Given the description of an element on the screen output the (x, y) to click on. 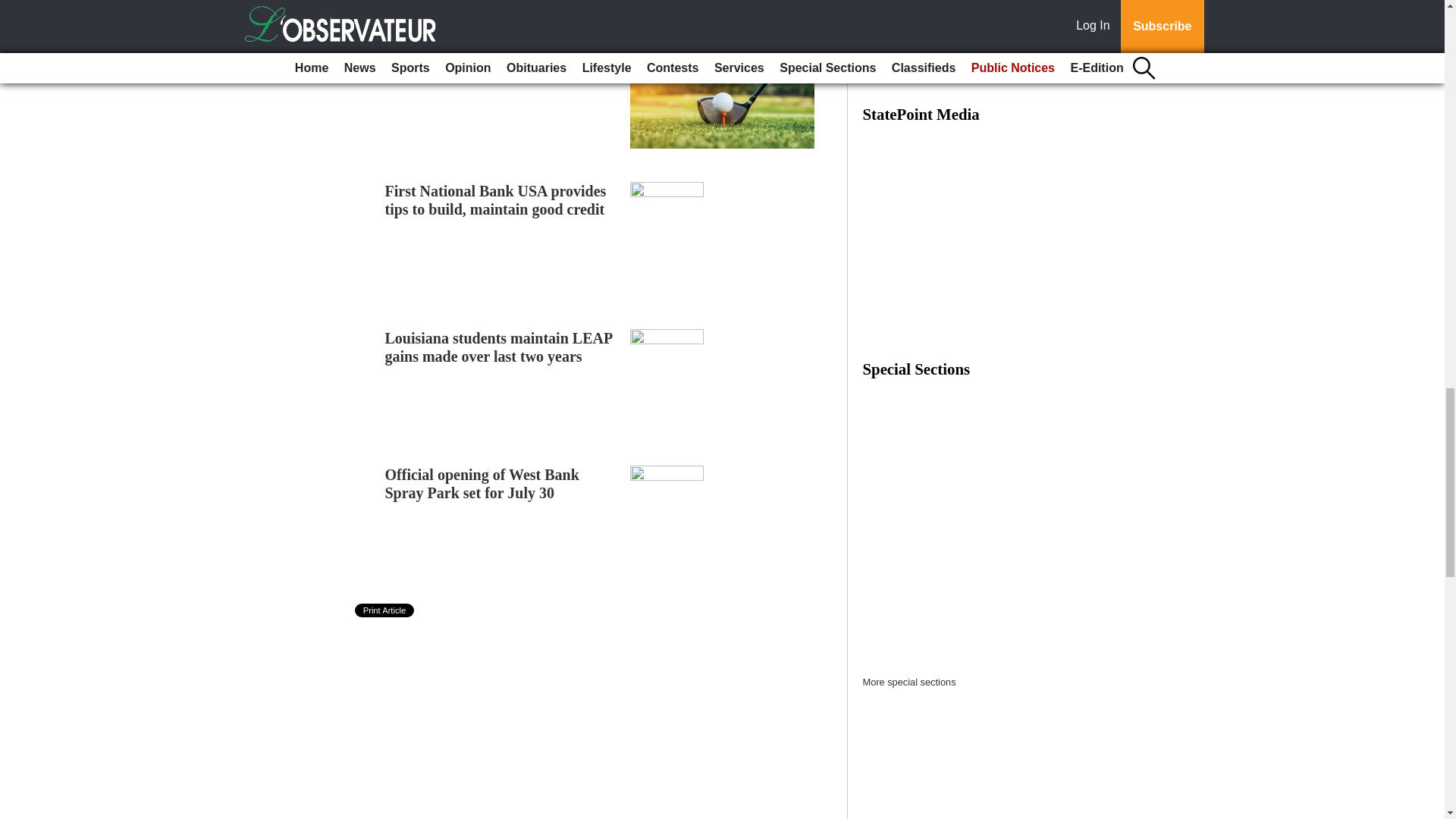
Youth golf league registration opens (501, 54)
Youth golf league registration opens (501, 54)
Official opening of West Bank Spray Park set for July 30 (482, 483)
Print Article (384, 610)
Official opening of West Bank Spray Park set for July 30 (482, 483)
